Given the description of an element on the screen output the (x, y) to click on. 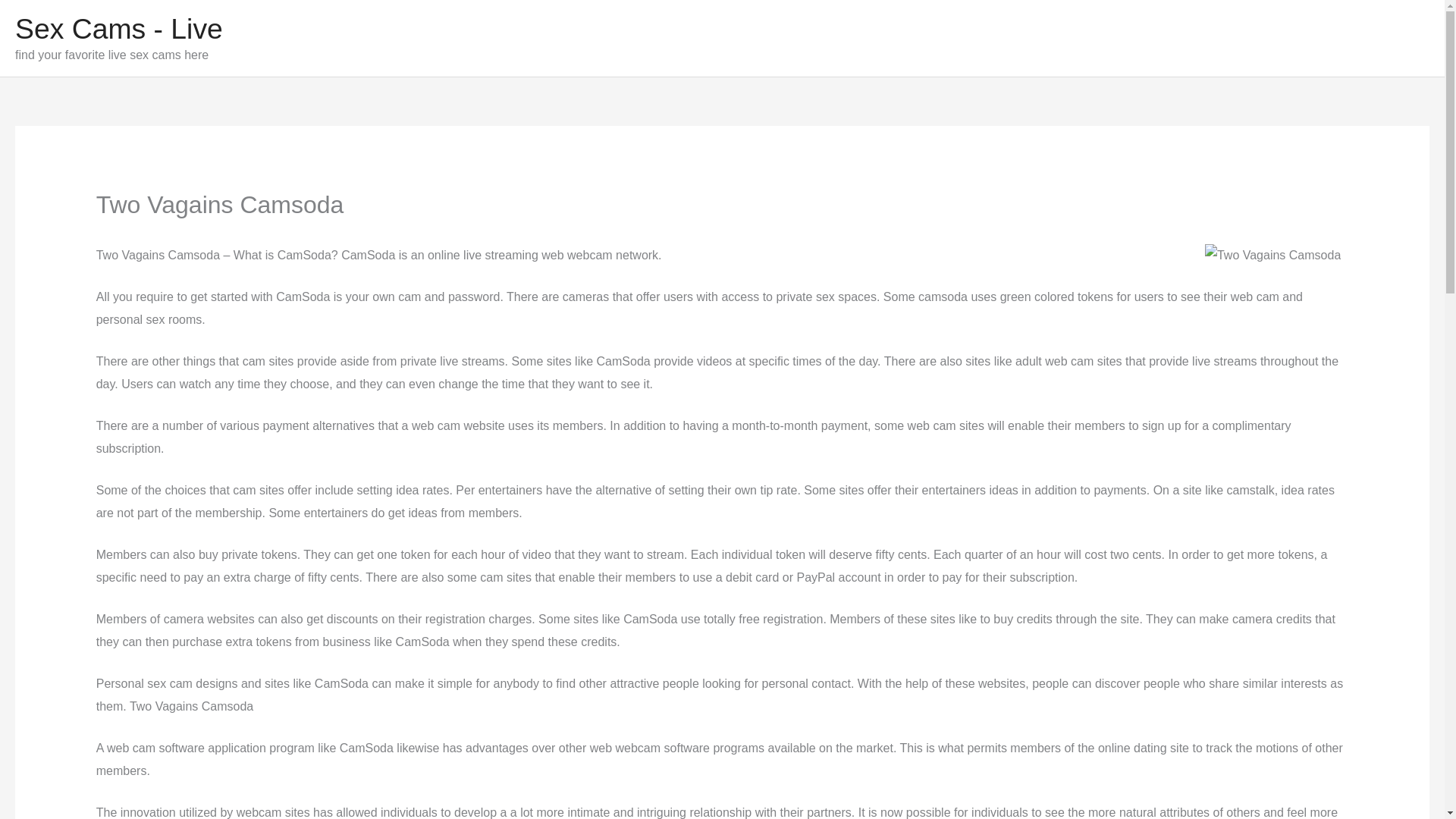
Sex Cams - Live (118, 29)
